Given the description of an element on the screen output the (x, y) to click on. 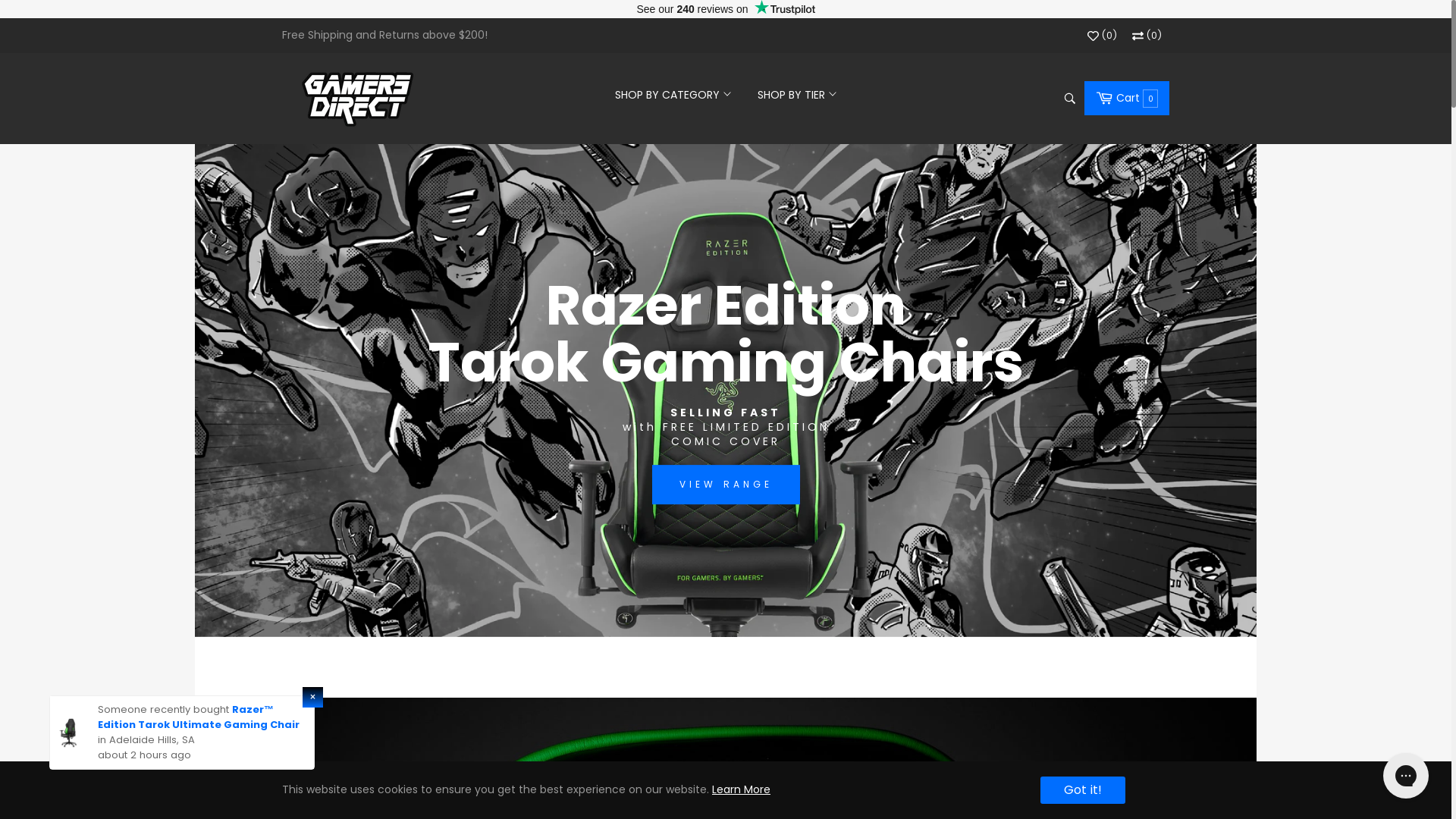
Learn More Element type: text (741, 789)
SHOP BY TIER Element type: text (797, 85)
SHOP BY CATEGORY Element type: text (673, 85)
Customer reviews powered by Trustpilot Element type: hover (725, 9)
Search Element type: hover (1068, 98)
VIEW RANGE Element type: text (726, 484)
Got it! Element type: text (1082, 789)
Gorgias live chat messenger Element type: hover (1405, 775)
0 Element type: text (1146, 35)
0 Element type: text (1101, 35)
